Given the description of an element on the screen output the (x, y) to click on. 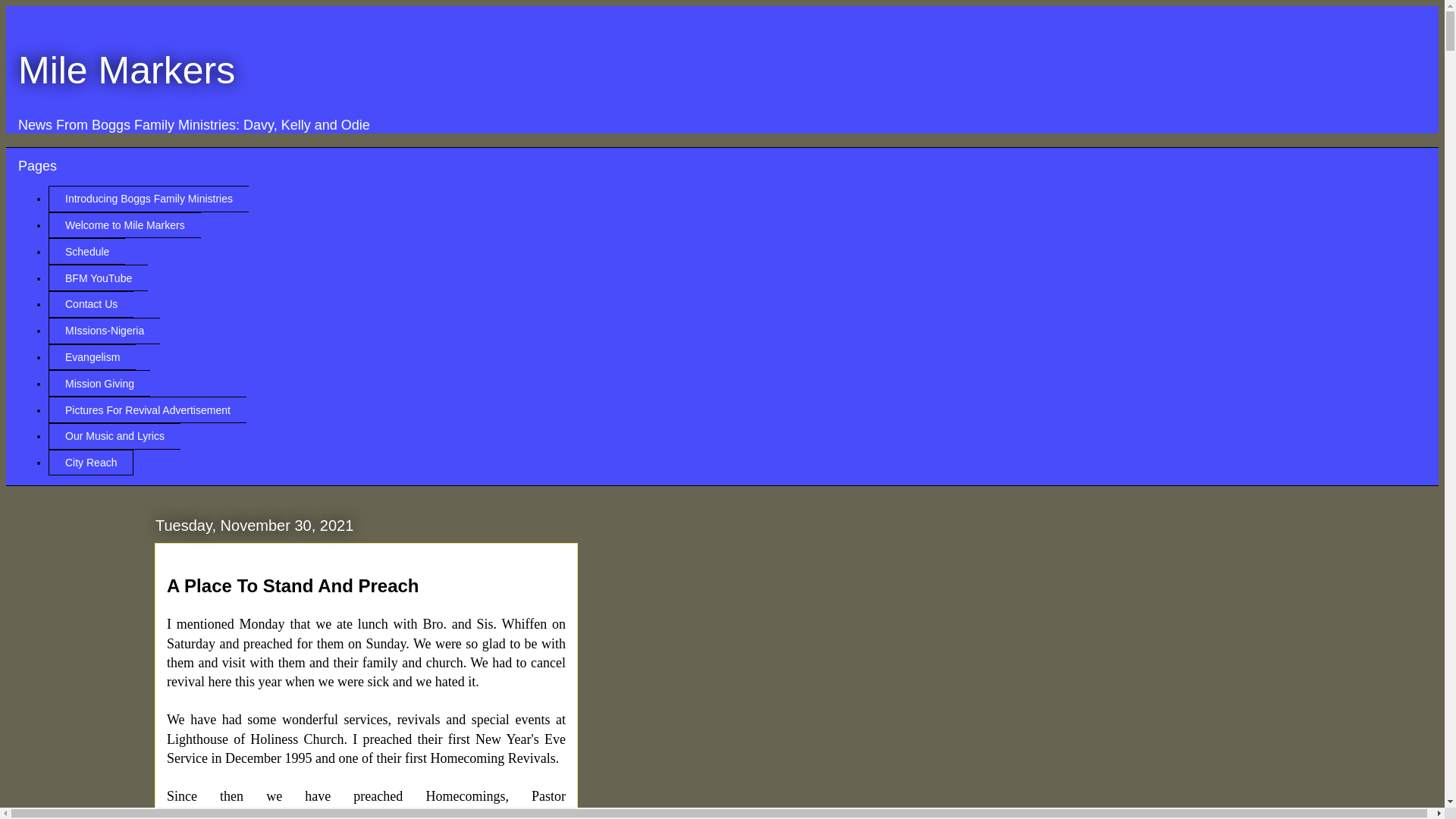
City Reach (90, 462)
Introducing Boggs Family Ministries (148, 198)
MIssions-Nigeria (104, 330)
Mission Giving (98, 383)
Schedule (86, 251)
Contact Us (90, 304)
A Place To Stand And Preach (293, 585)
Pictures For Revival Advertisement (147, 409)
Mile Markers (125, 69)
Our Music and Lyrics (114, 436)
BFM YouTube (98, 277)
Evangelism (91, 357)
Welcome to Mile Markers (124, 225)
